Given the description of an element on the screen output the (x, y) to click on. 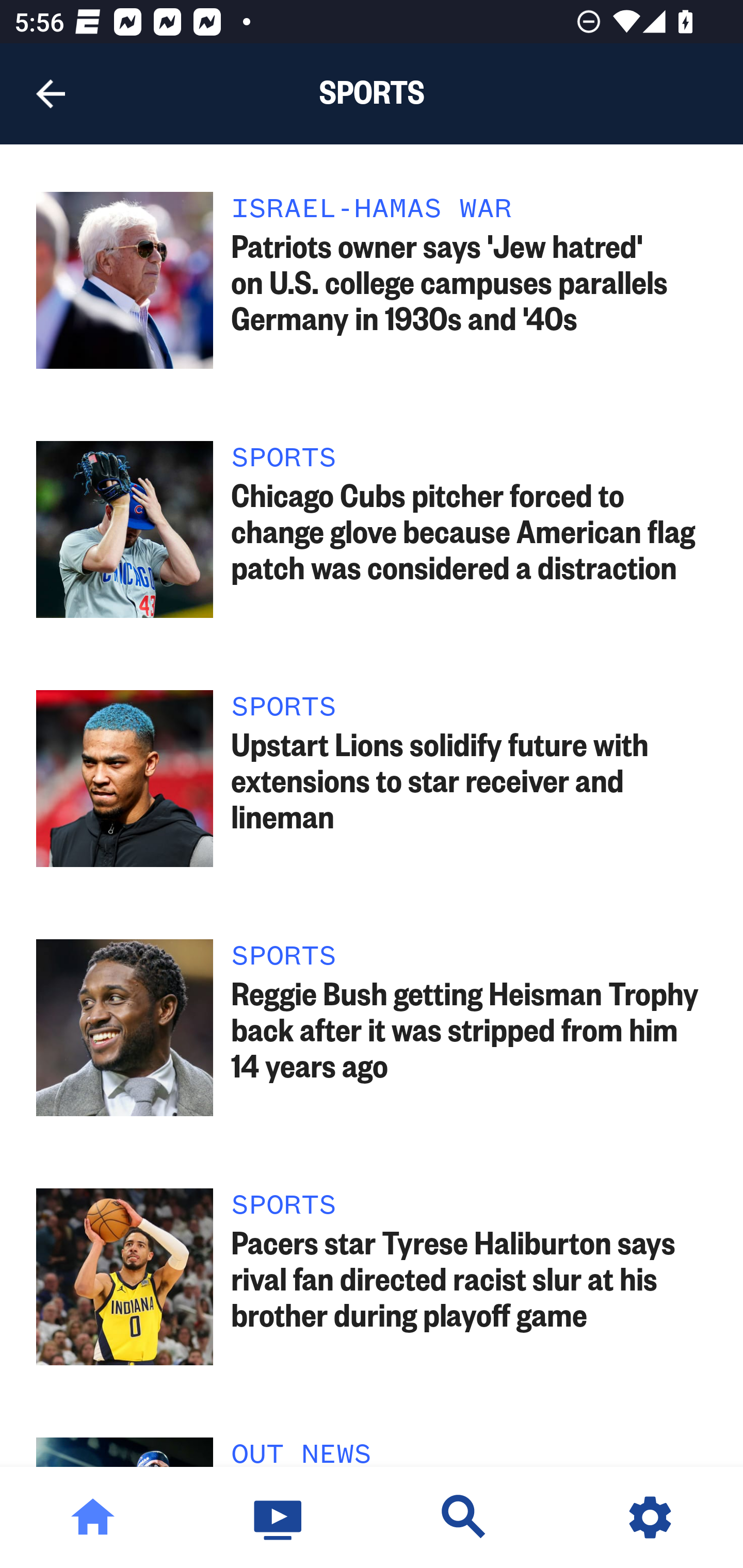
Navigate up (50, 93)
Watch (278, 1517)
Discover (464, 1517)
Settings (650, 1517)
